Given the description of an element on the screen output the (x, y) to click on. 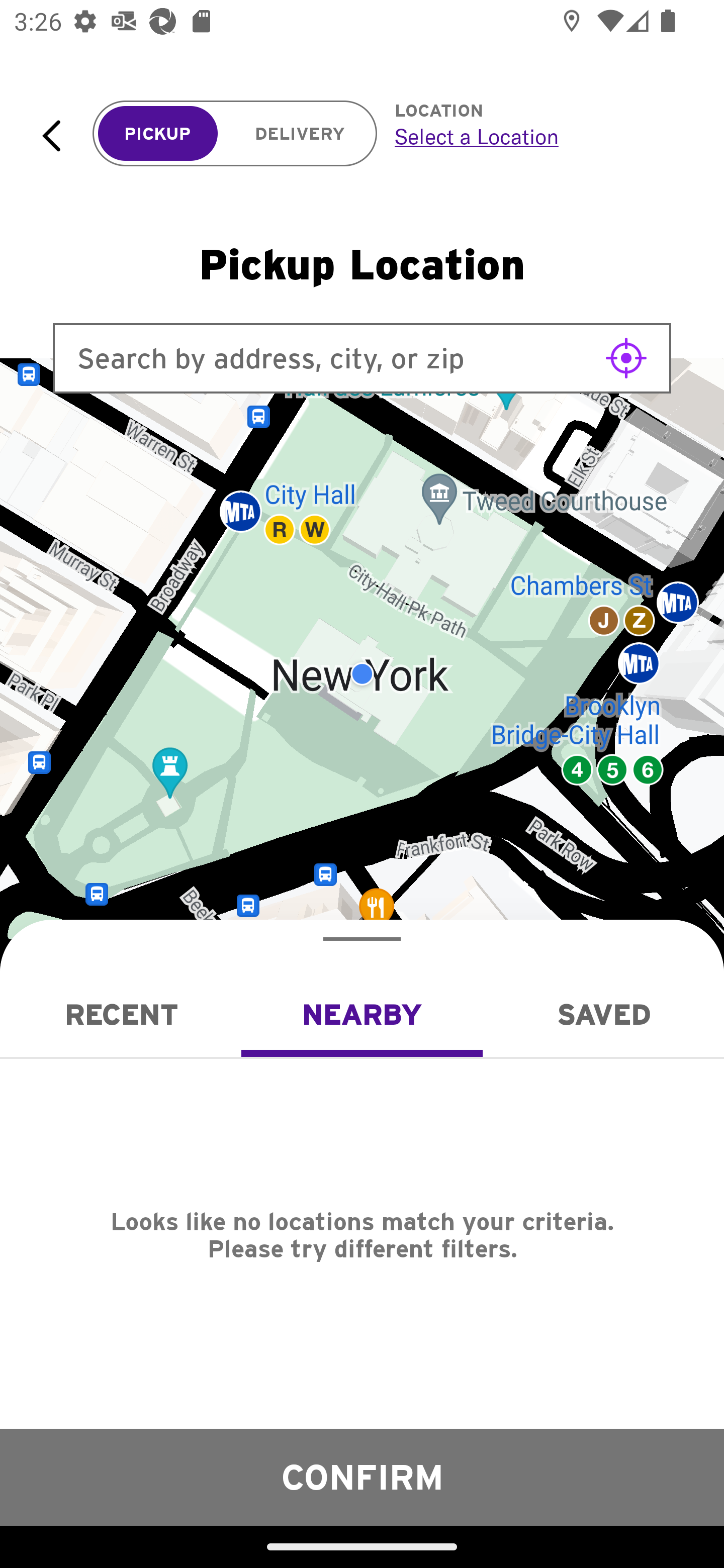
PICKUP (157, 133)
DELIVERY (299, 133)
Select a Location (536, 136)
Search by address, city, or zip (361, 358)
Google Map (362, 674)
Recent RECENT (120, 1014)
Saved SAVED (603, 1014)
CONFIRM (362, 1476)
